Given the description of an element on the screen output the (x, y) to click on. 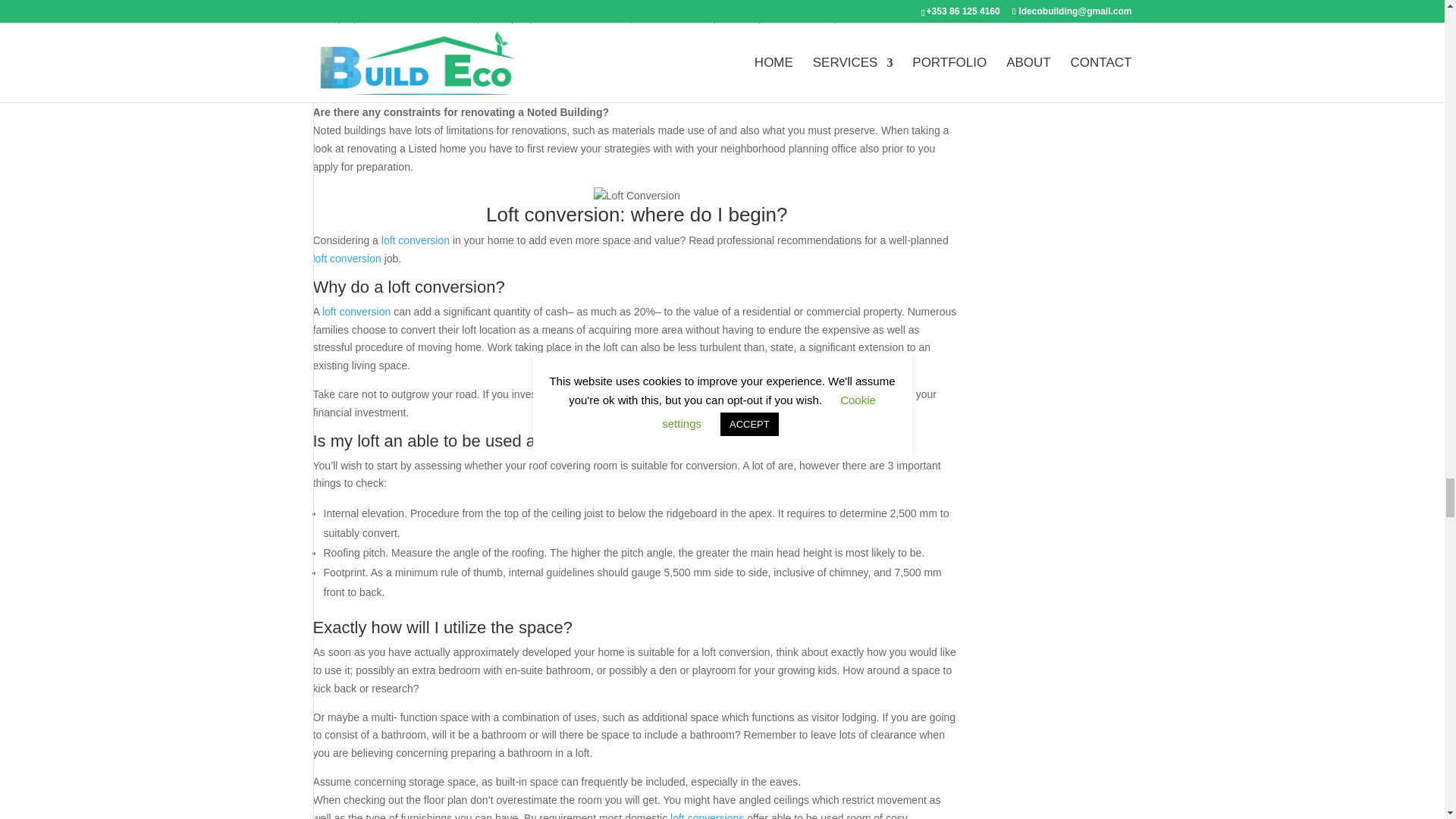
loft conversions (706, 815)
loft conversion (355, 311)
loft conversion (415, 240)
loft conversion (346, 258)
